Given the description of an element on the screen output the (x, y) to click on. 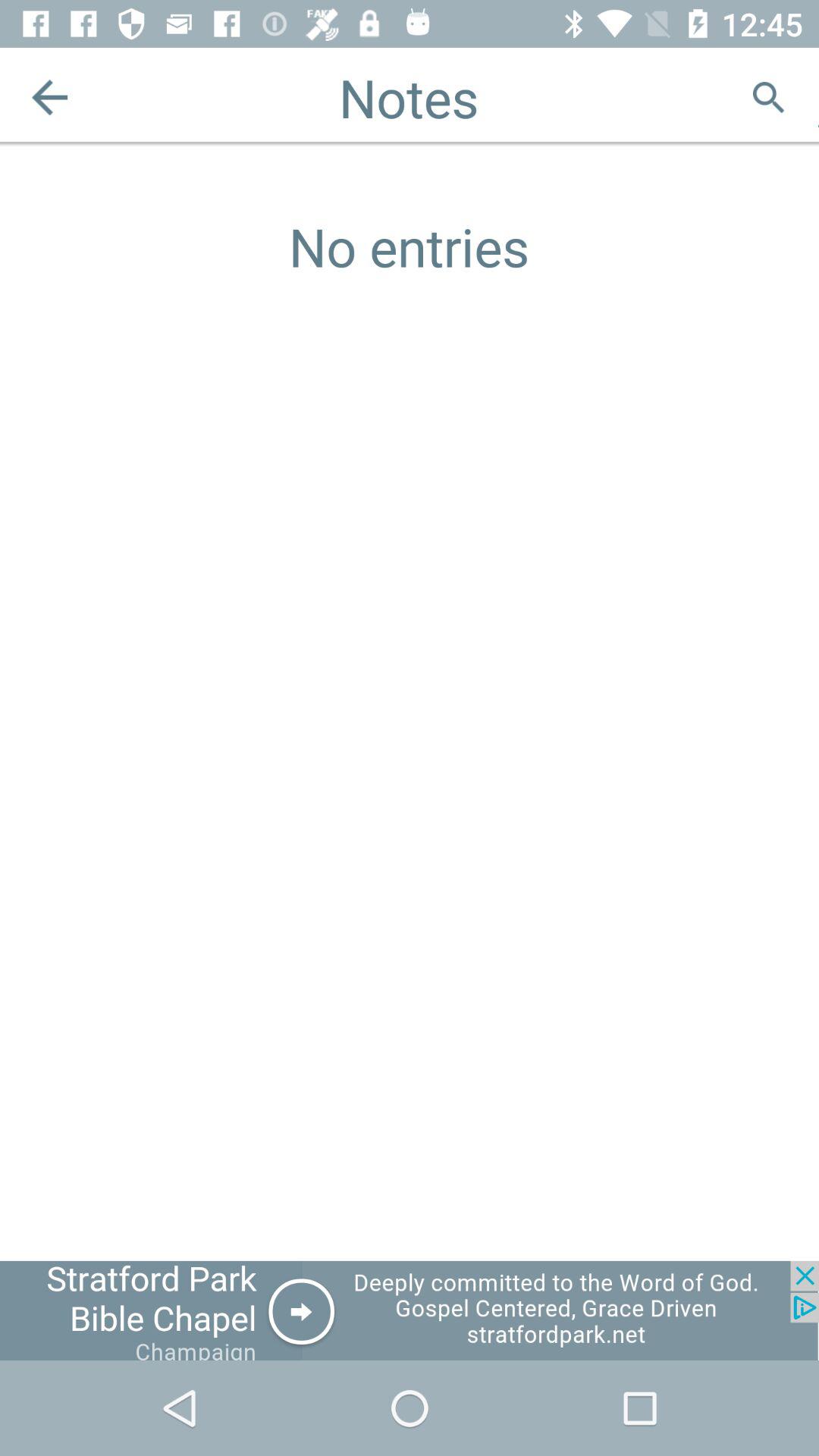
search (768, 97)
